Given the description of an element on the screen output the (x, y) to click on. 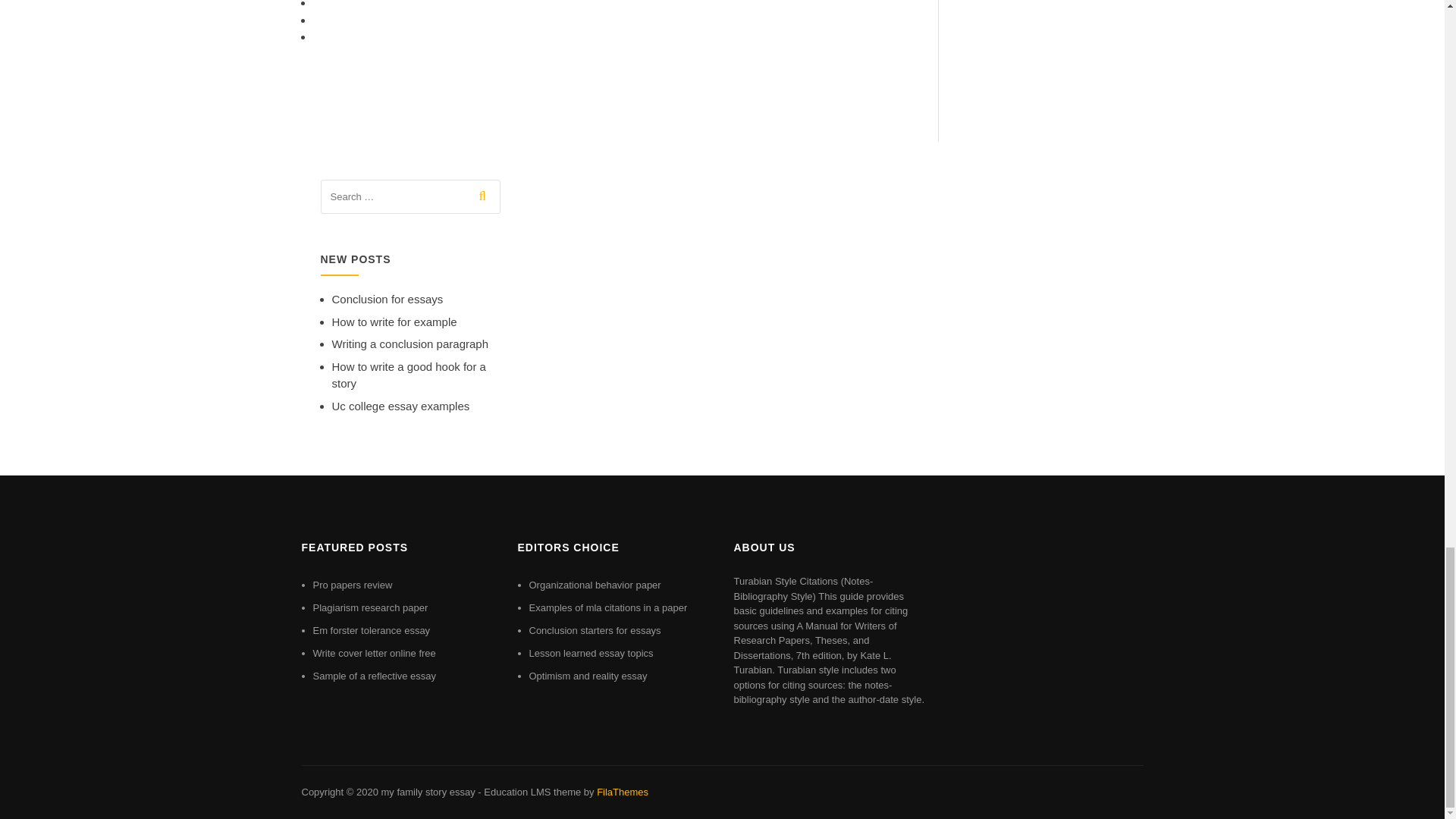
Em forster tolerance essay (371, 630)
Examples of mla citations in a paper (608, 607)
Organizational behavior paper (595, 584)
Sample of a reflective essay (374, 675)
Uc college essay examples (400, 405)
How to write for example (394, 321)
Optimism and reality essay (588, 675)
Conclusion for essays (387, 298)
Writing a conclusion paragraph (410, 343)
Write cover letter online free (374, 653)
